Given the description of an element on the screen output the (x, y) to click on. 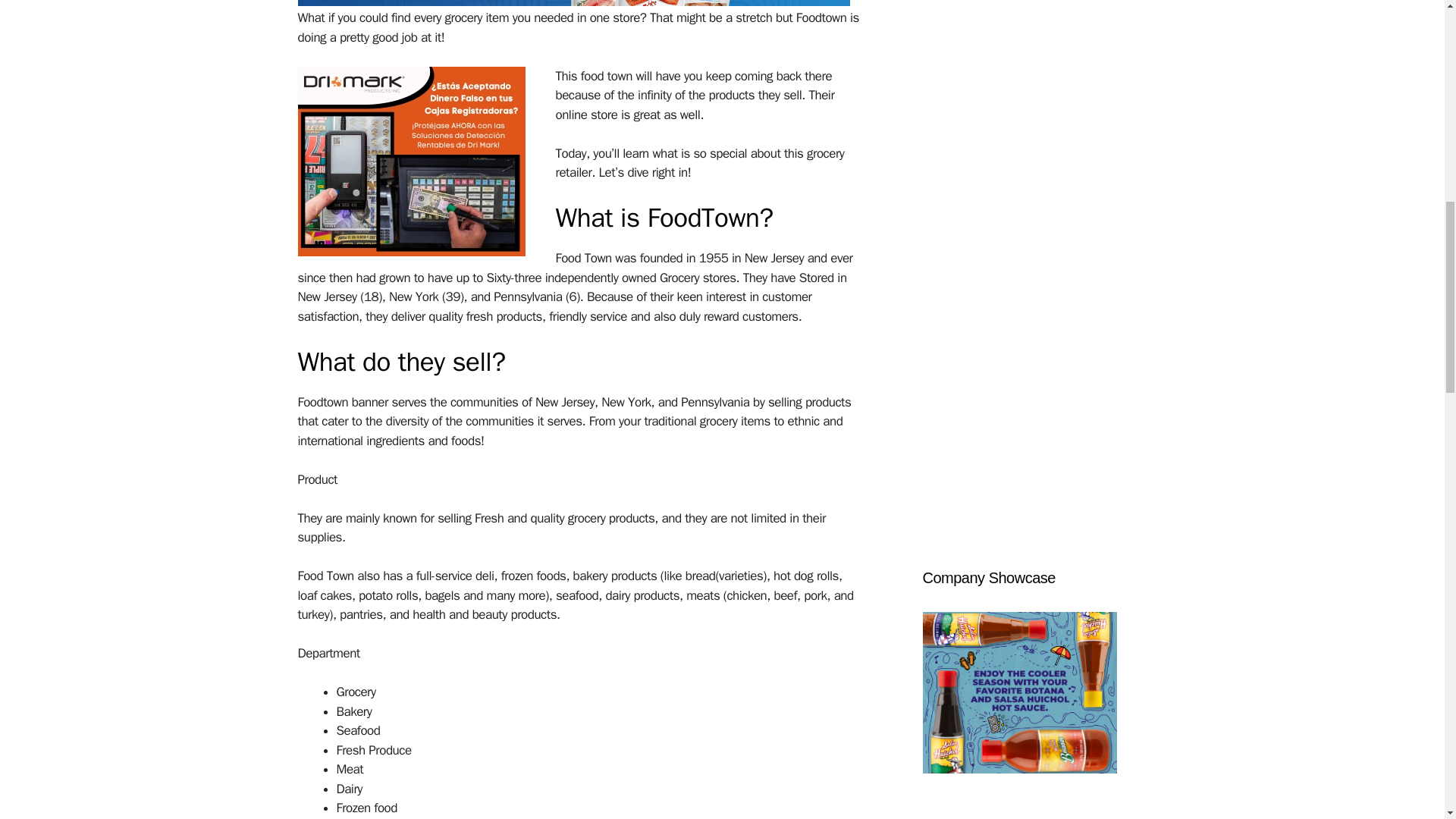
YouTube (1045, 302)
Twitter (936, 302)
Instagram (1009, 302)
LinkedIn (973, 302)
